Given the description of an element on the screen output the (x, y) to click on. 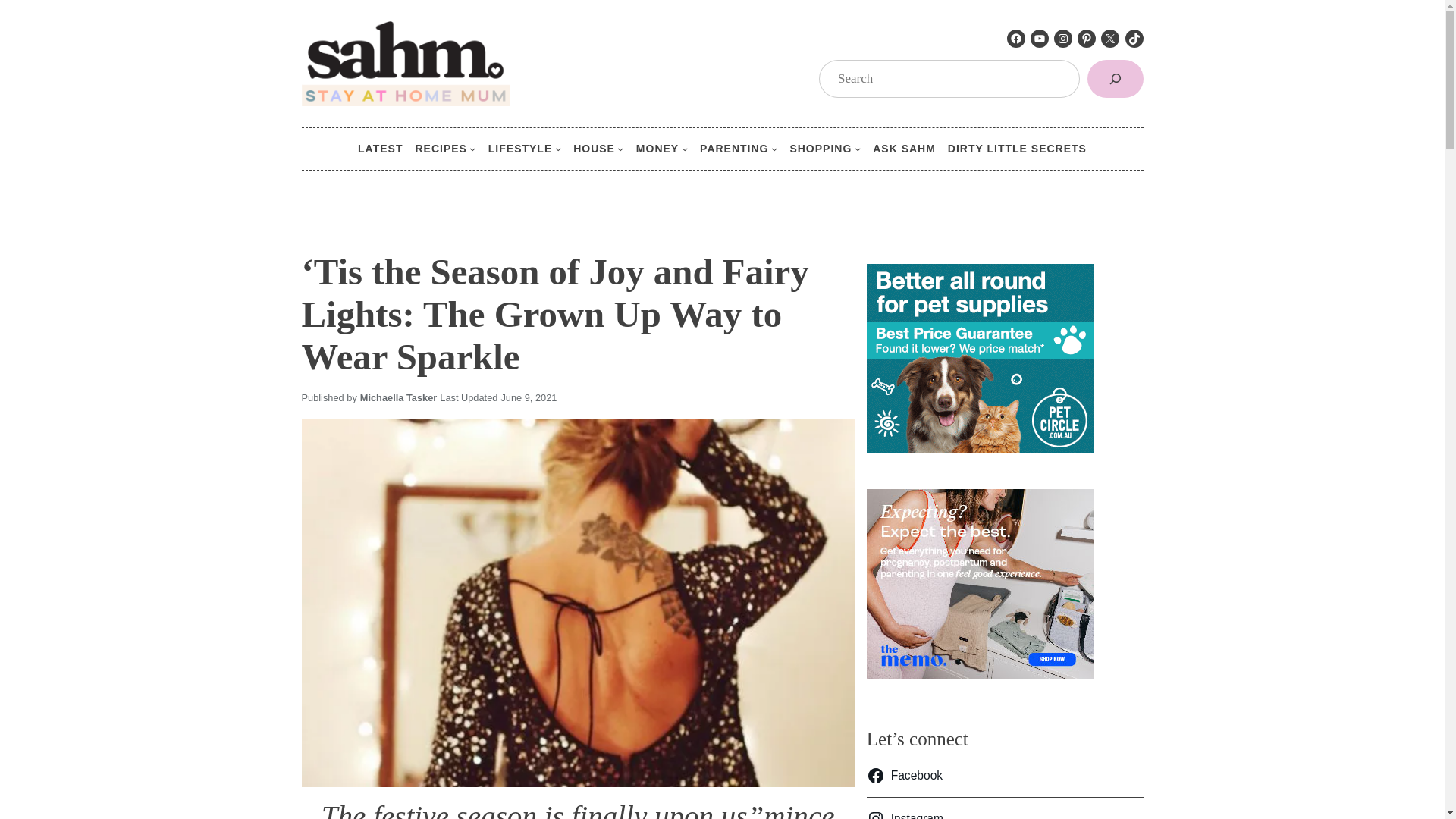
HOUSE (593, 148)
LATEST (380, 148)
MONEY (657, 148)
Pinterest (1086, 38)
Facebook (1016, 38)
X (1109, 38)
Instagram (1062, 38)
TikTok (1133, 38)
RECIPES (439, 148)
YouTube (1039, 38)
LIFESTYLE (519, 148)
